Given the description of an element on the screen output the (x, y) to click on. 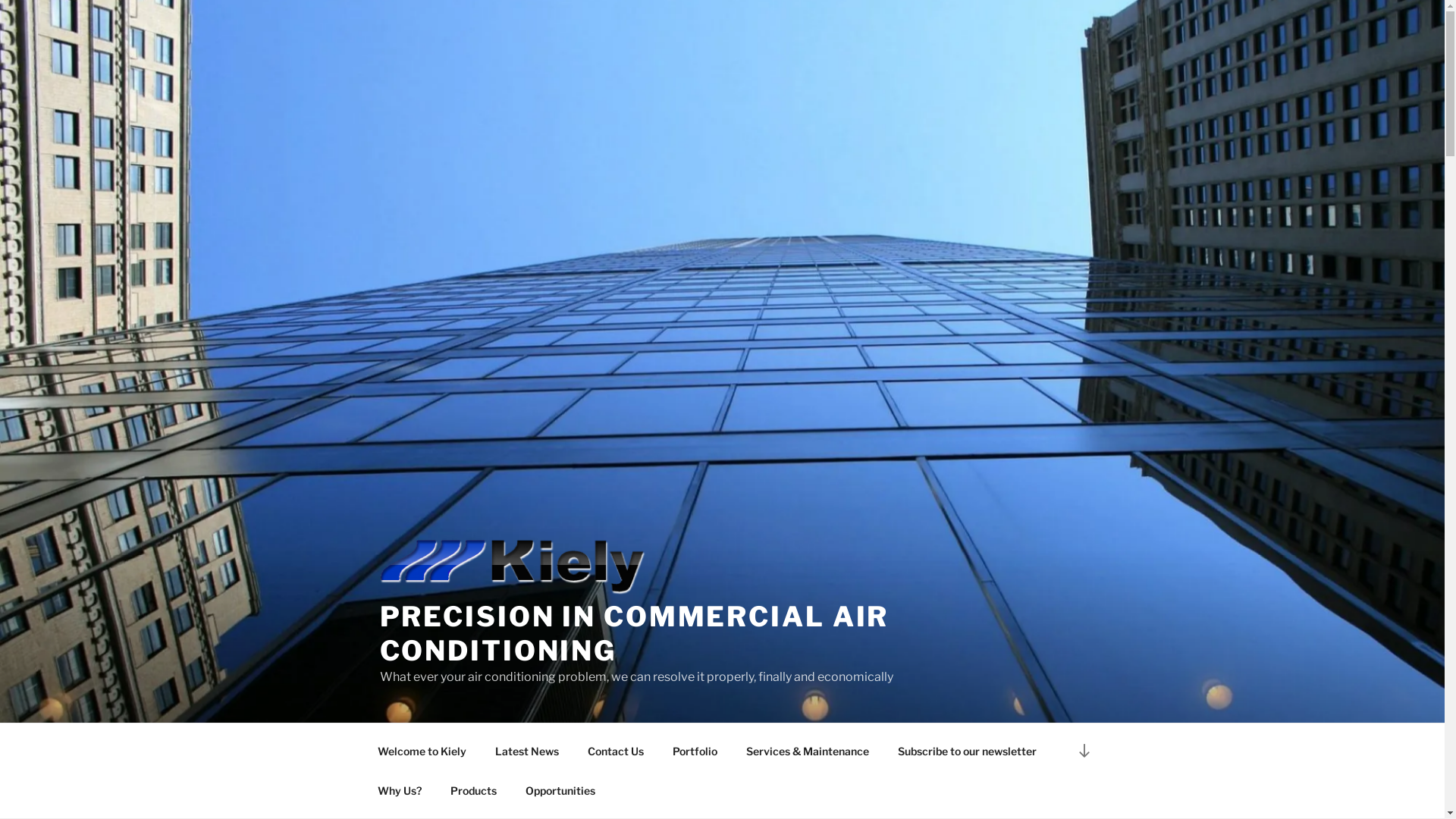
PRECISION IN COMMERCIAL AIR CONDITIONING Element type: text (633, 633)
Latest News Element type: text (527, 750)
Portfolio Element type: text (695, 750)
Welcome to Kiely Element type: text (421, 750)
Services & Maintenance Element type: text (806, 750)
Subscribe to our newsletter Element type: text (966, 750)
Scroll down to content Element type: text (1083, 750)
Products Element type: text (472, 789)
Opportunities Element type: text (560, 789)
Contact Us Element type: text (615, 750)
Why Us? Element type: text (399, 789)
